Given the description of an element on the screen output the (x, y) to click on. 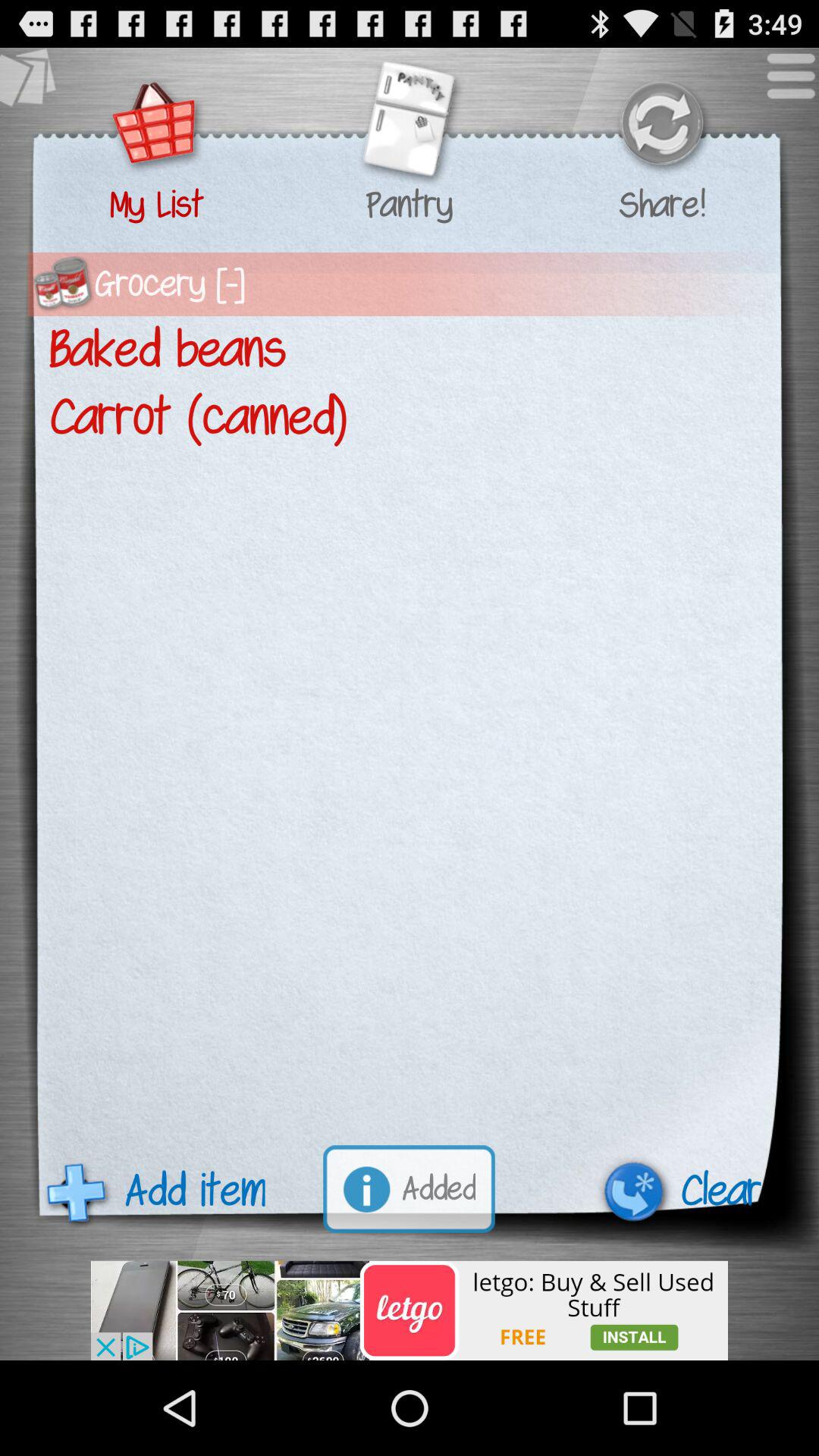
menu option (783, 83)
